Given the description of an element on the screen output the (x, y) to click on. 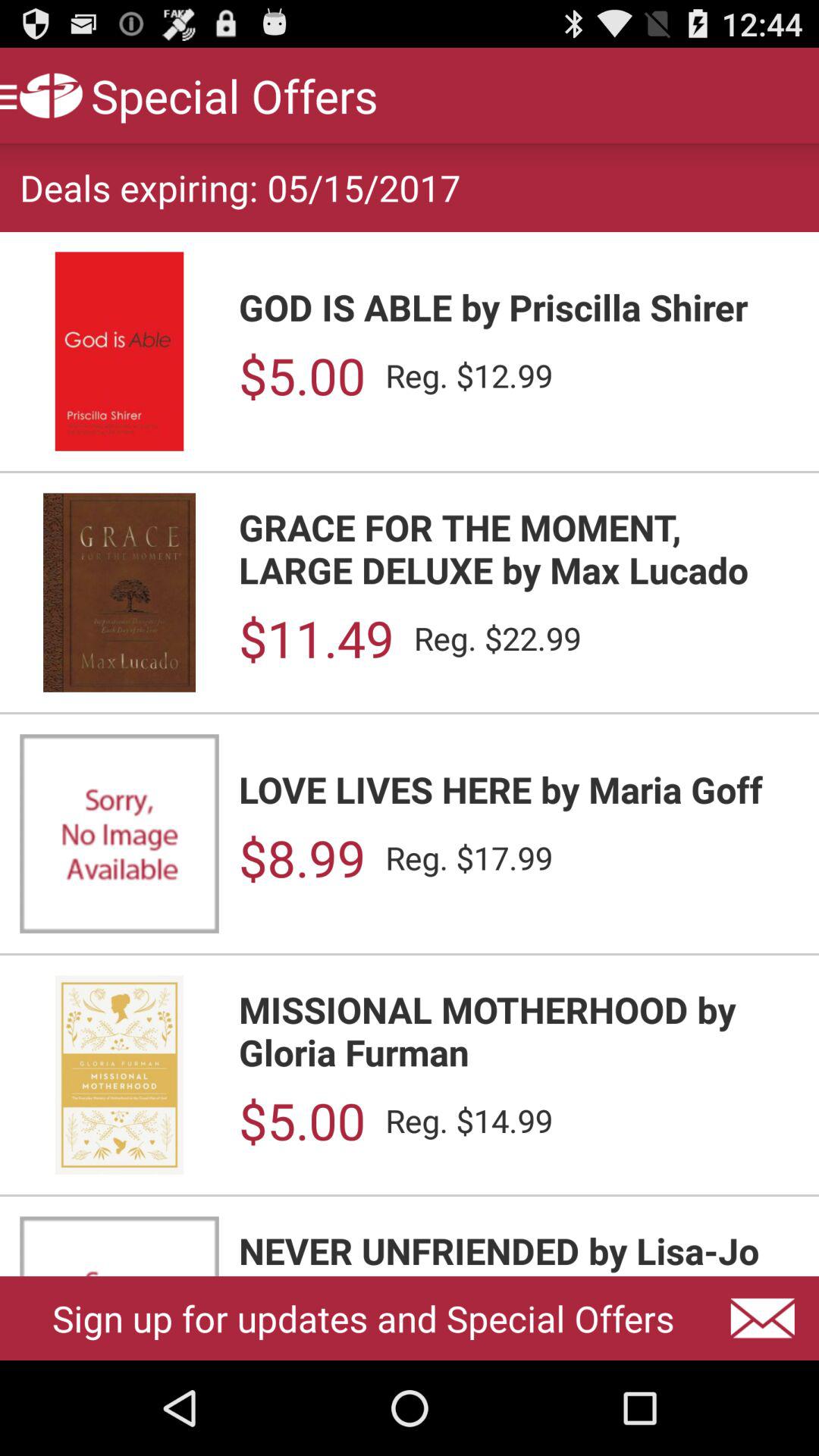
click the icon below $5.00 item (518, 548)
